Given the description of an element on the screen output the (x, y) to click on. 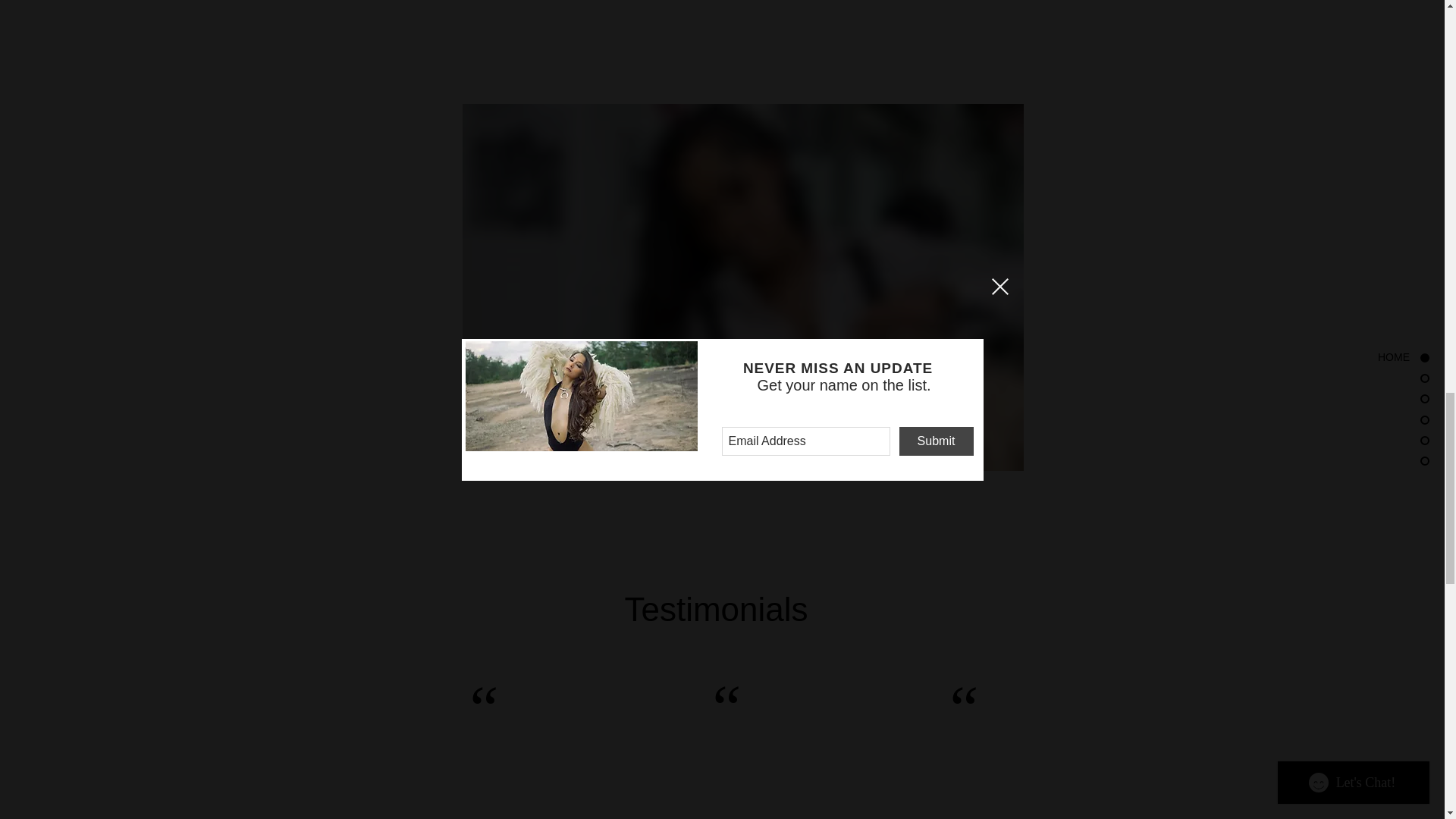
book now (528, 431)
